Given the description of an element on the screen output the (x, y) to click on. 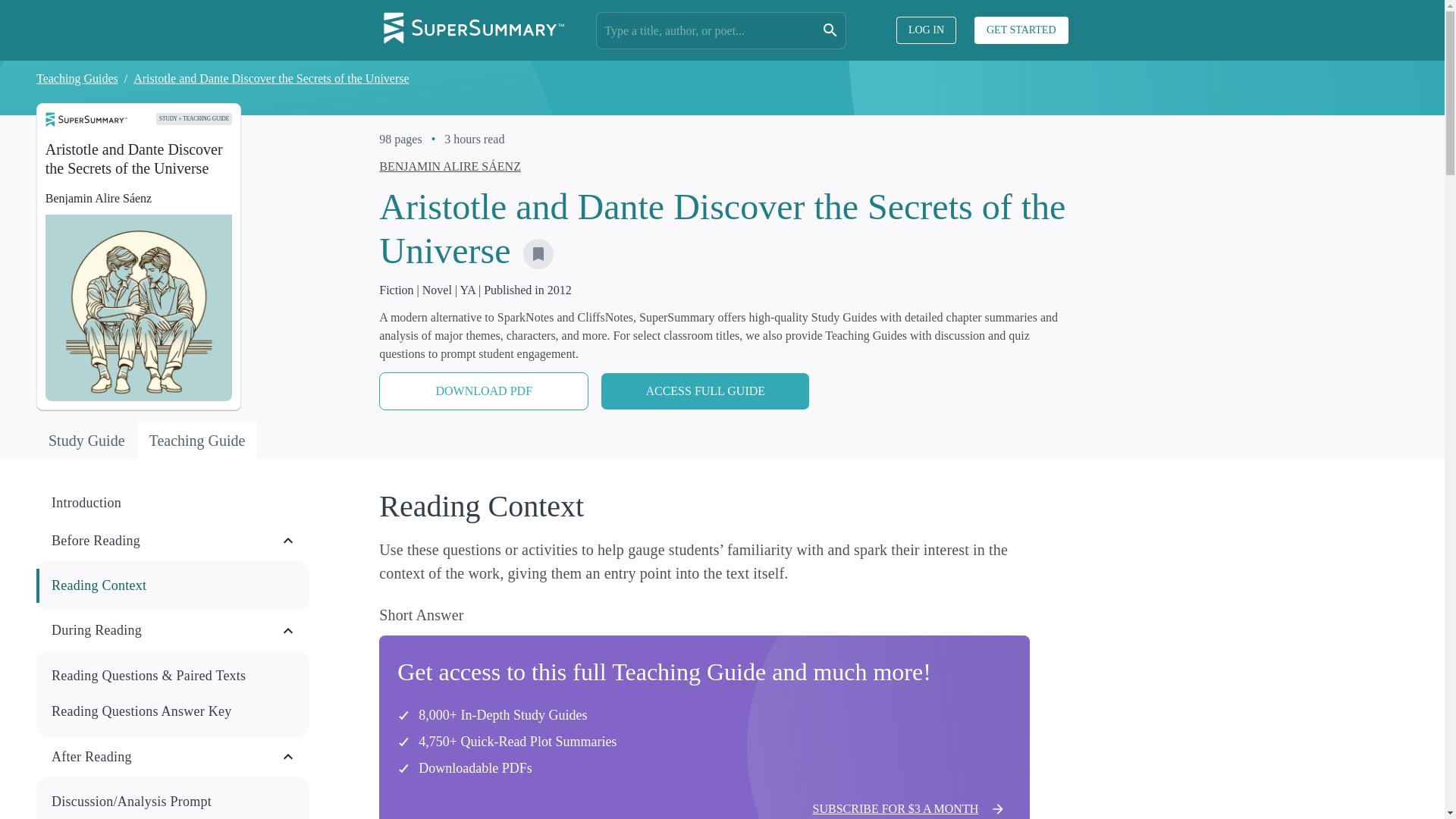
Reading Questions Answer Key (172, 711)
Teaching Guides (76, 78)
During Reading (164, 630)
Before Reading (164, 540)
Search (830, 30)
GET STARTED (1012, 30)
Introduction (173, 503)
DOWNLOAD PDF (483, 391)
Introduction (172, 503)
Aristotle and Dante Discover the Secrets of the Universe (271, 78)
Study Guide (86, 440)
Go to homepage (472, 29)
GET STARTED (1021, 30)
Reading Context (172, 585)
Add to Saved Guides (537, 254)
